Given the description of an element on the screen output the (x, y) to click on. 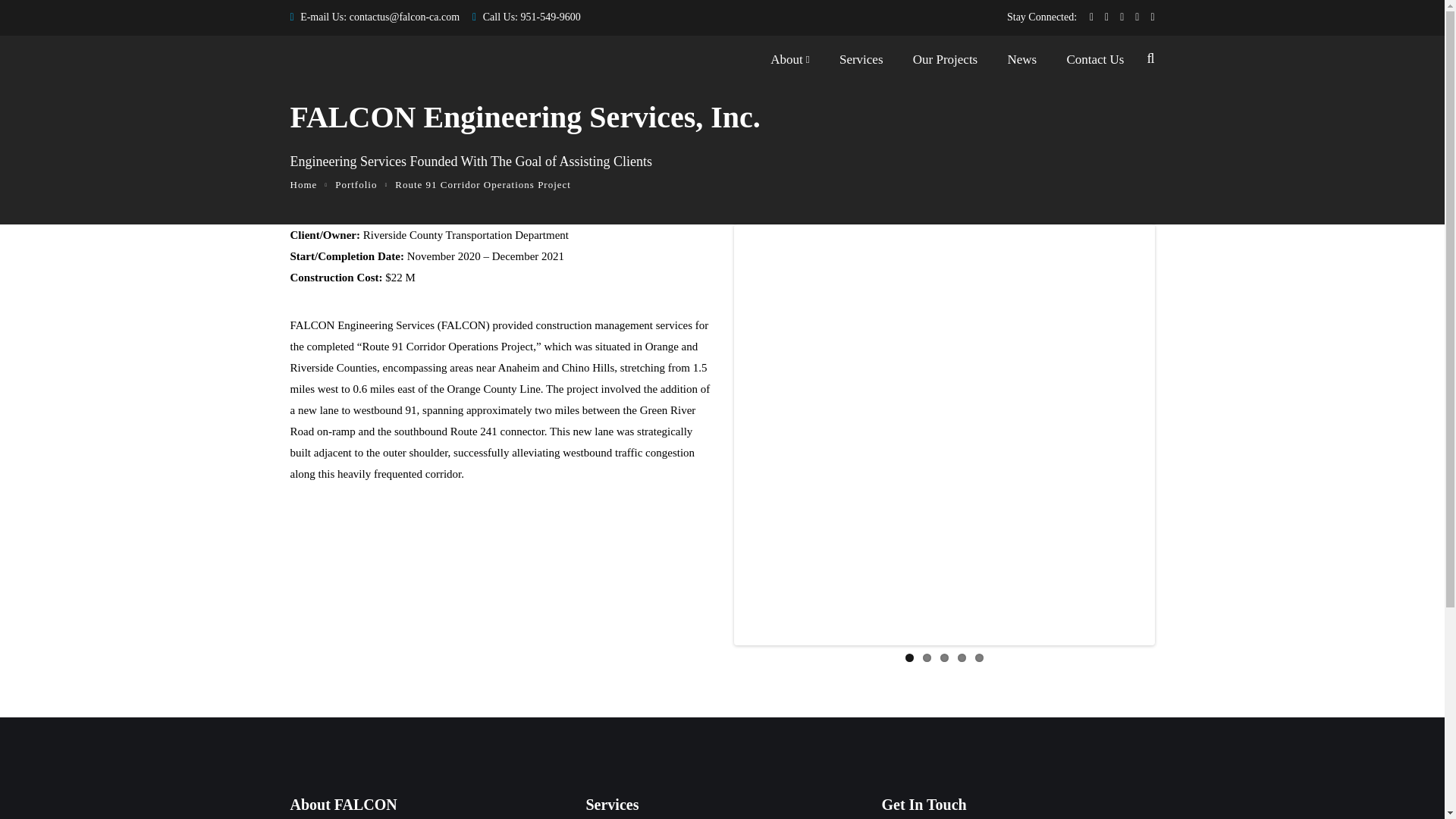
Portfolio (355, 184)
5 (979, 657)
Services (861, 62)
Our Projects (944, 62)
About (789, 62)
3 (944, 657)
4 (960, 657)
2 (925, 657)
News (1021, 62)
Home (303, 184)
